Given the description of an element on the screen output the (x, y) to click on. 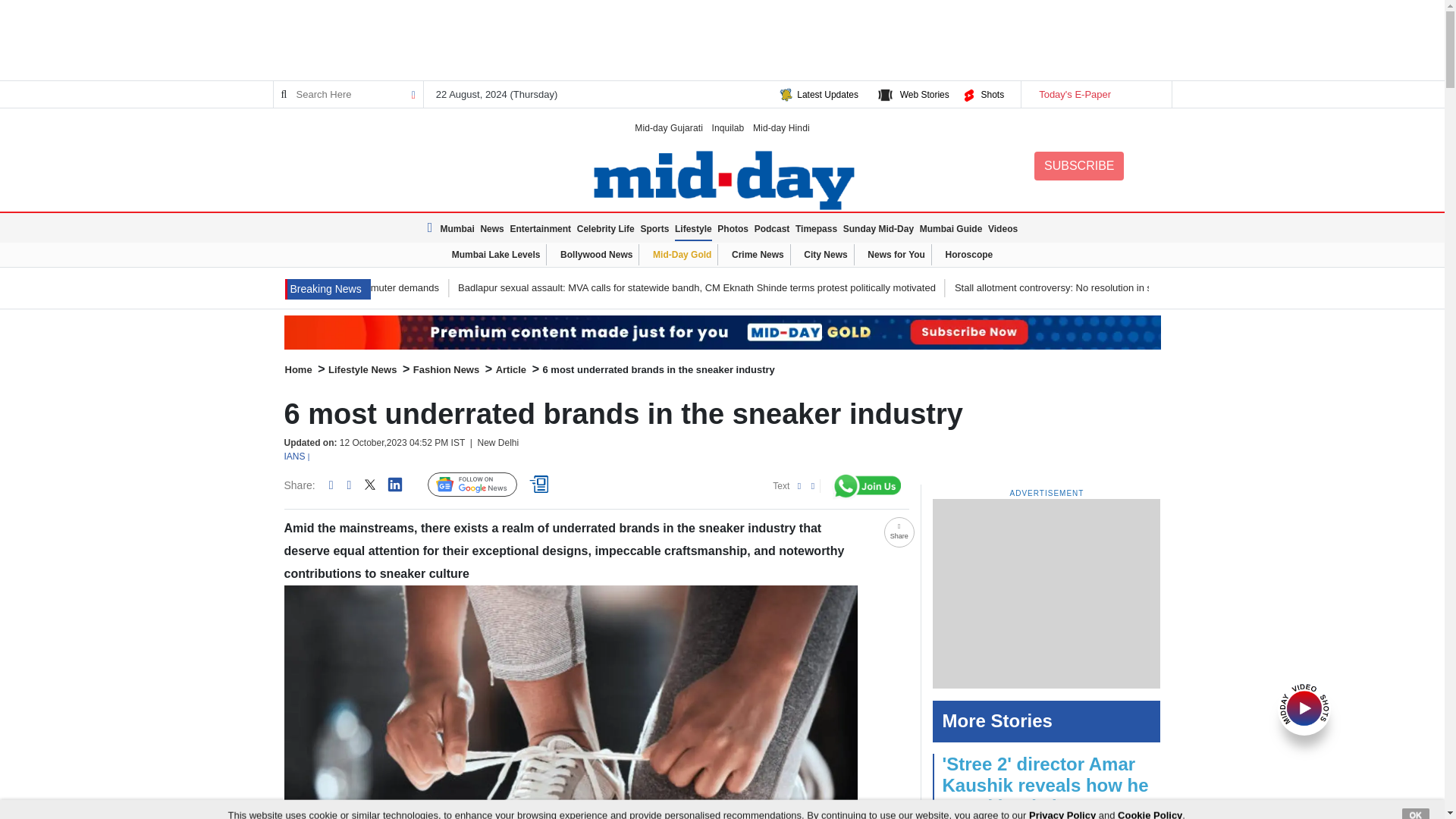
Latest News (432, 227)
Subscription (721, 332)
Quick Reads (541, 485)
Latest Updates (827, 94)
Latest News (328, 289)
Inquilab (728, 127)
Mid-day Gujarati (668, 127)
6 most underrated brands in the sneaker industry (570, 702)
SUBSCRIBE (1078, 165)
Web Stories (924, 94)
